Given the description of an element on the screen output the (x, y) to click on. 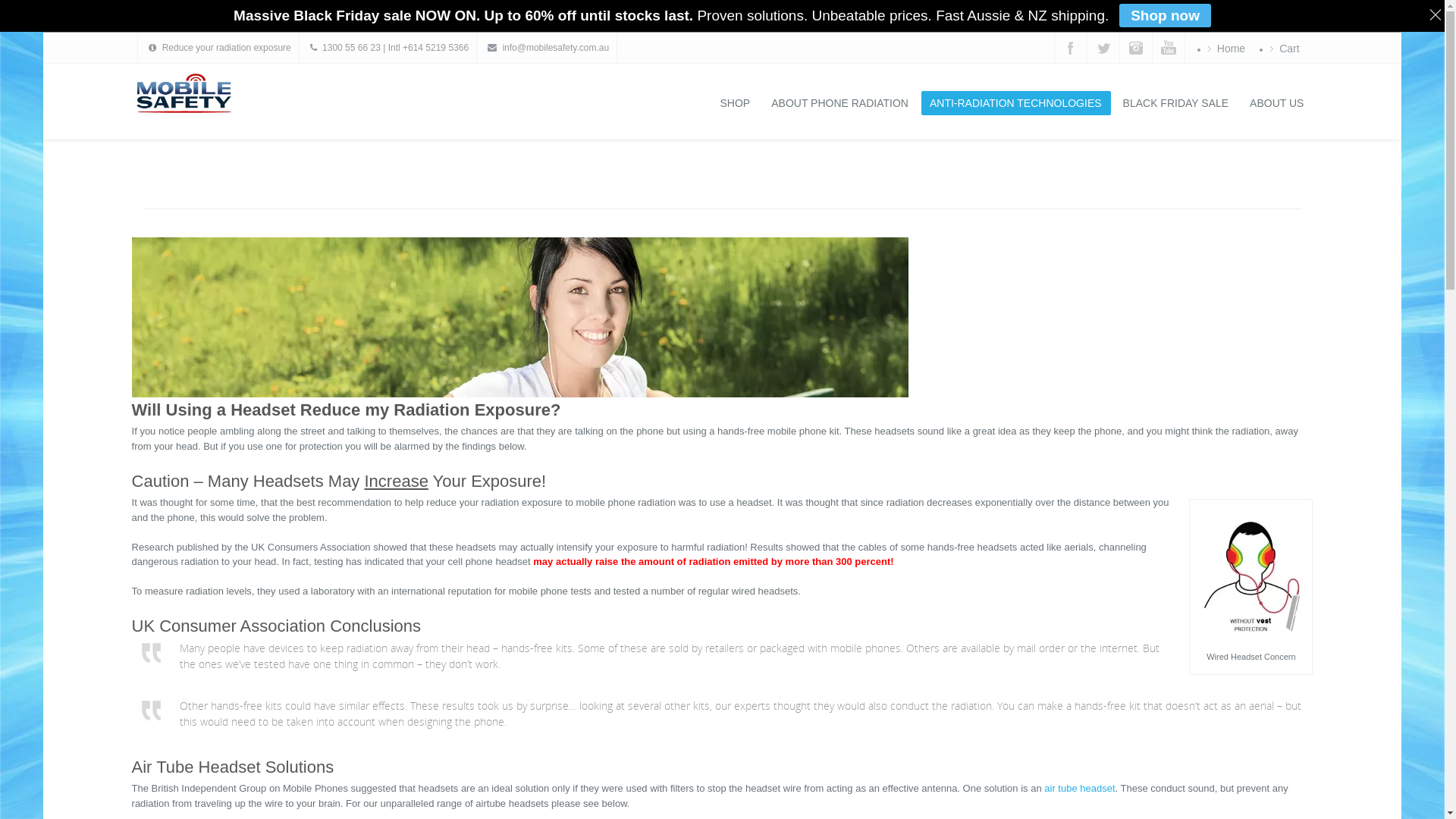
ABOUT US Element type: text (1276, 103)
ANTI-RADIATION TECHNOLOGIES Element type: text (1015, 103)
+614 5219 5366 Element type: text (435, 47)
BLACK FRIDAY SALE Element type: text (1176, 103)
Cart Element type: text (1289, 48)
1300 55 66 23 Element type: text (351, 47)
Home Element type: text (1231, 48)
SHOP Element type: text (735, 103)
ABOUT PHONE RADIATION Element type: text (839, 103)
Shop now Element type: text (1165, 15)
air tube headset Element type: text (1079, 787)
info@mobilesafety.com.au Element type: text (555, 47)
